Given the description of an element on the screen output the (x, y) to click on. 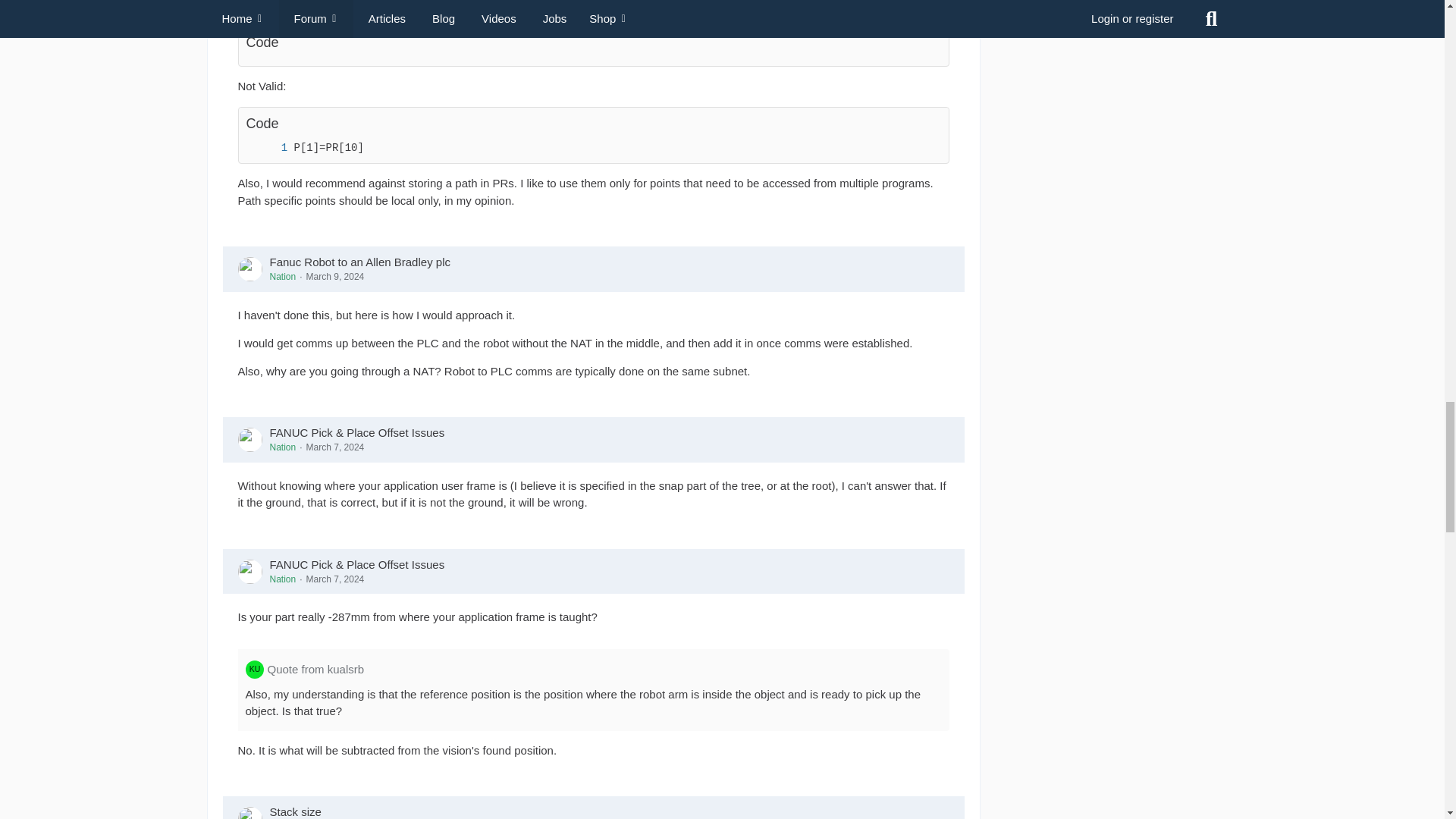
1 (267, 148)
1 (267, 50)
